Given the description of an element on the screen output the (x, y) to click on. 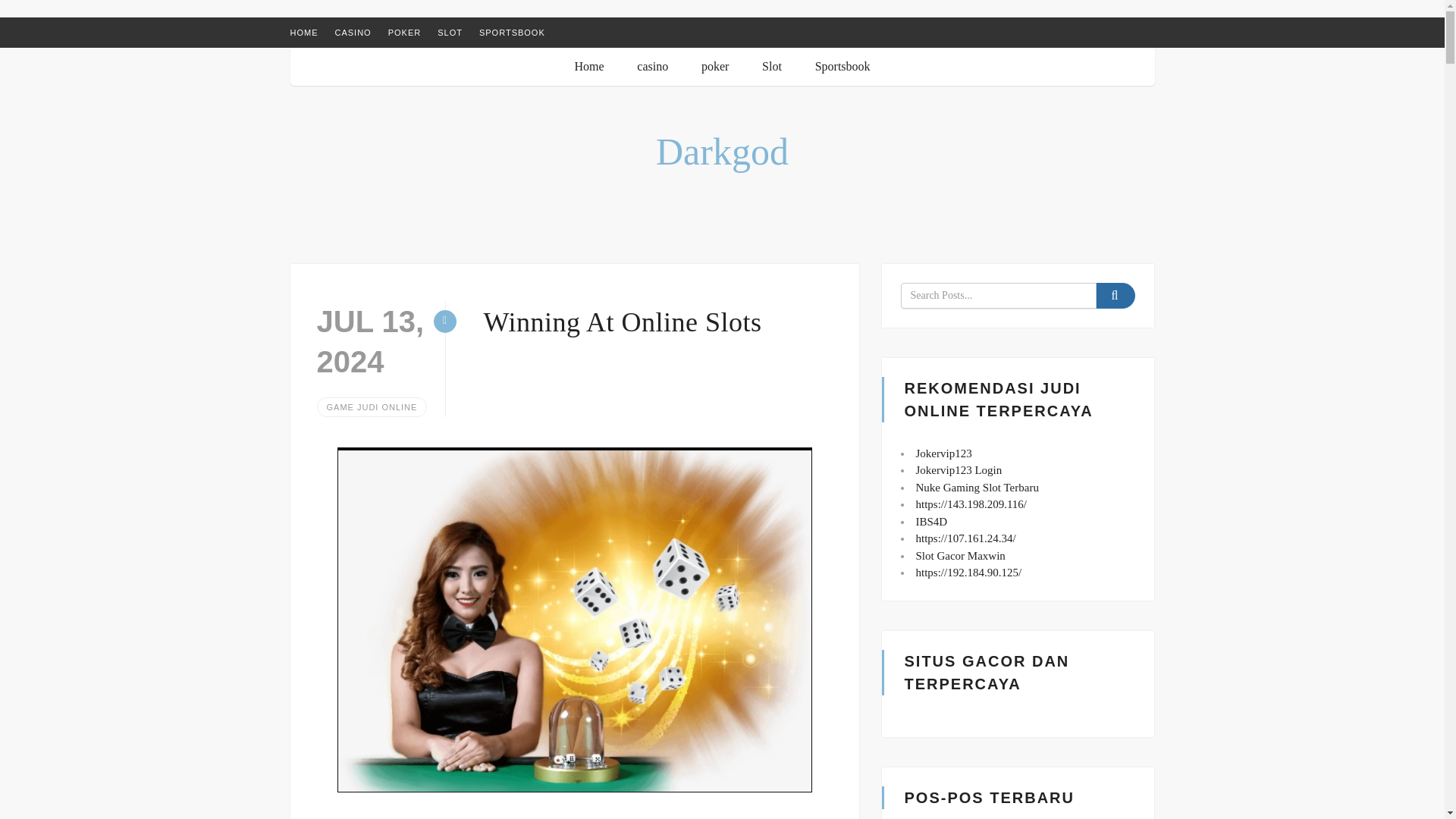
Darkgod (721, 150)
OMG303 (977, 487)
Sportsbook (842, 65)
Jokervip123 Login (959, 469)
OMG303 Login (971, 503)
IBS4D (931, 521)
Winning At Online Slots (622, 321)
CASINO (352, 31)
HOME (303, 31)
GAME JUDI ONLINE (372, 406)
IBS4D Login (965, 538)
POKER (405, 31)
Jokervip123 (943, 453)
SPORTSBOOK (511, 31)
Darkgod (721, 150)
